Given the description of an element on the screen output the (x, y) to click on. 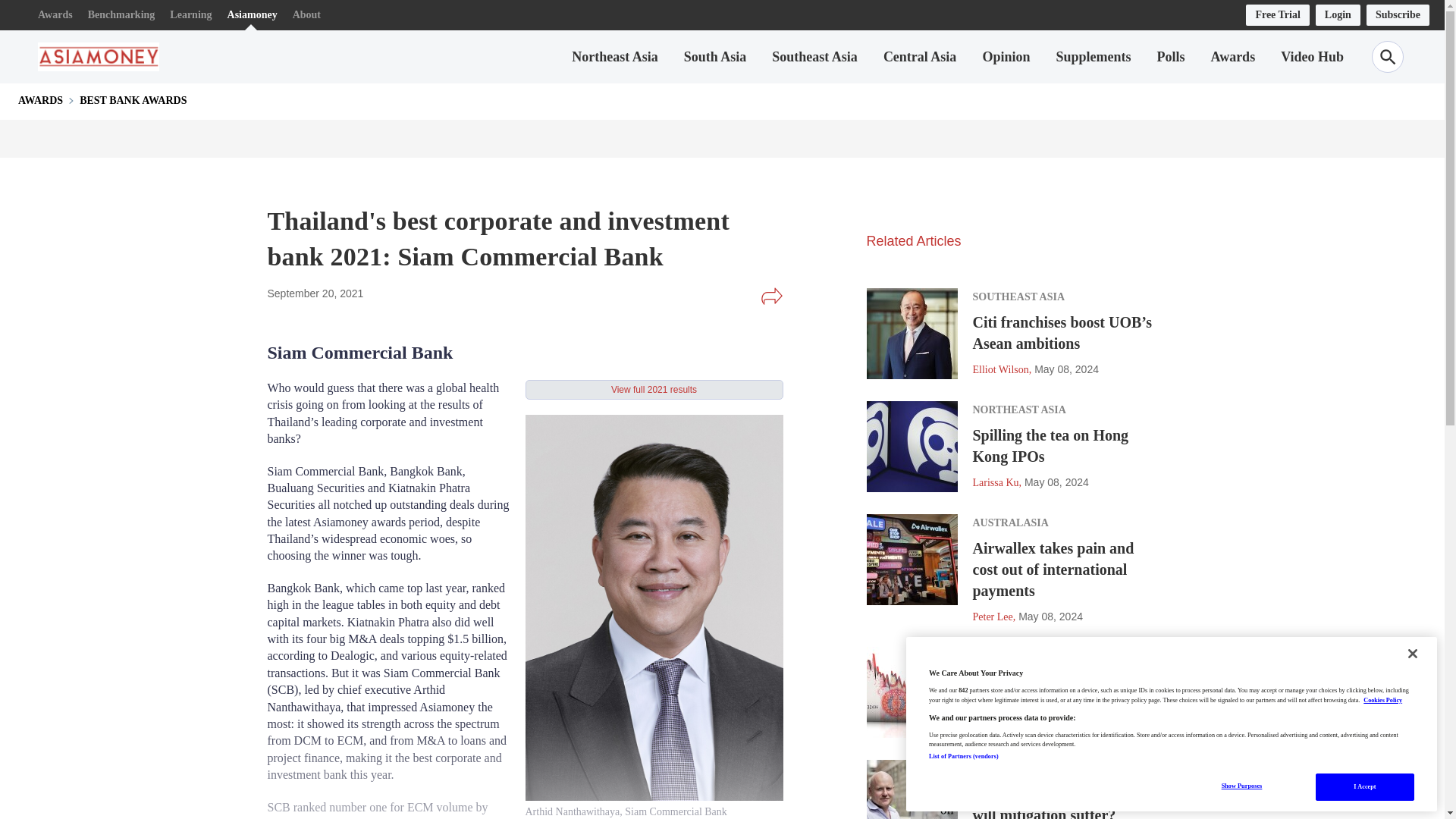
Awards (1232, 56)
About (306, 14)
Video Hub (1312, 56)
Northeast Asia (615, 56)
Free Trial (1277, 14)
Benchmarking (121, 14)
Polls (1170, 56)
Asiamoney (252, 14)
Show Search (1387, 56)
Central Asia (919, 56)
South Asia (715, 56)
Awards (54, 14)
Opinion (1005, 56)
Supplements (1093, 56)
Southeast Asia (814, 56)
